Given the description of an element on the screen output the (x, y) to click on. 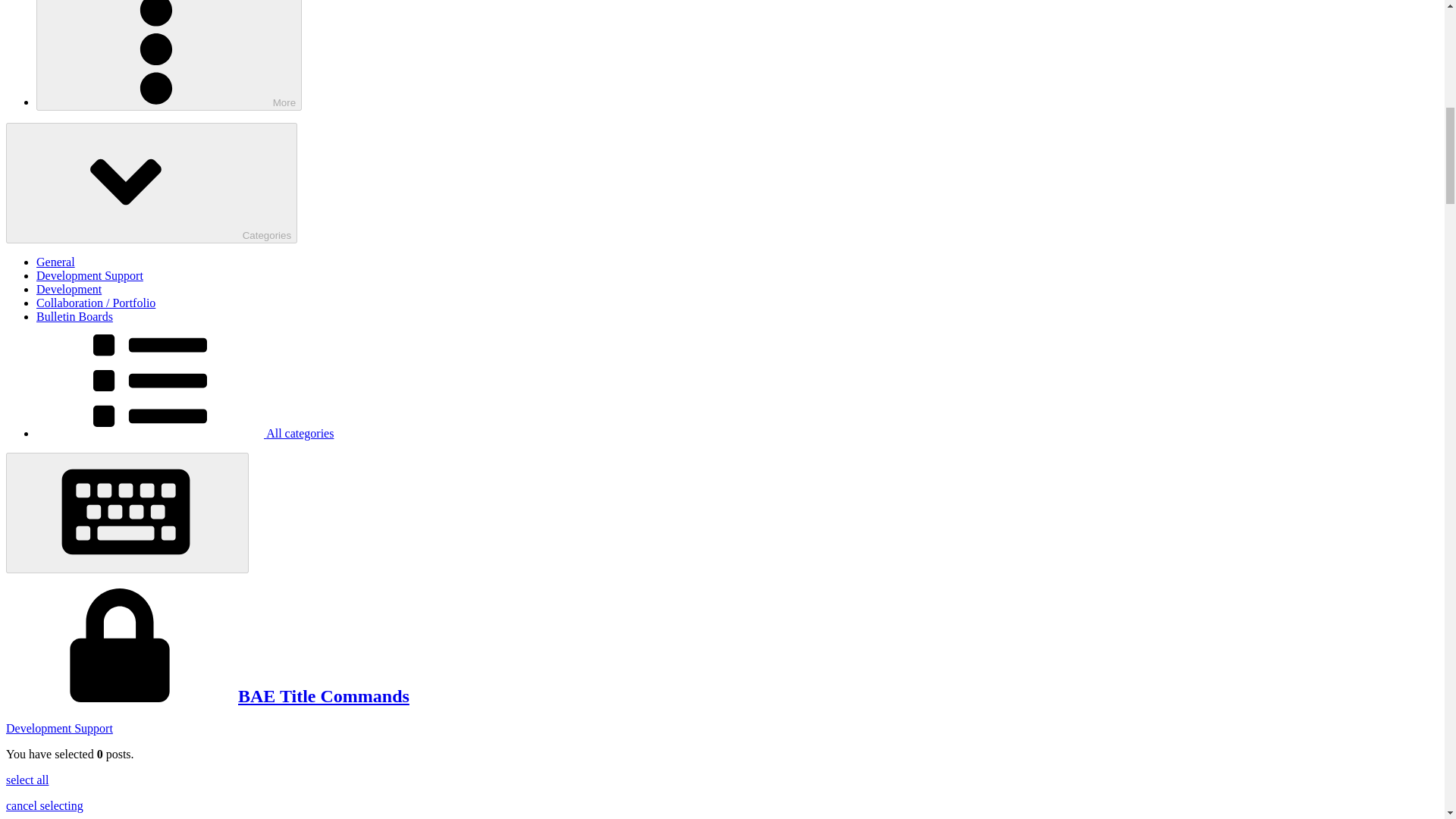
Development Support (59, 727)
Keyboard Shortcuts (126, 512)
All categories (184, 432)
Development Support (89, 275)
select all (26, 779)
Categories (151, 182)
Toggle section (151, 182)
Development (68, 288)
Bulletin Boards (74, 316)
General (55, 261)
This topic is closed; it no longer accepts new replies (118, 695)
